Given the description of an element on the screen output the (x, y) to click on. 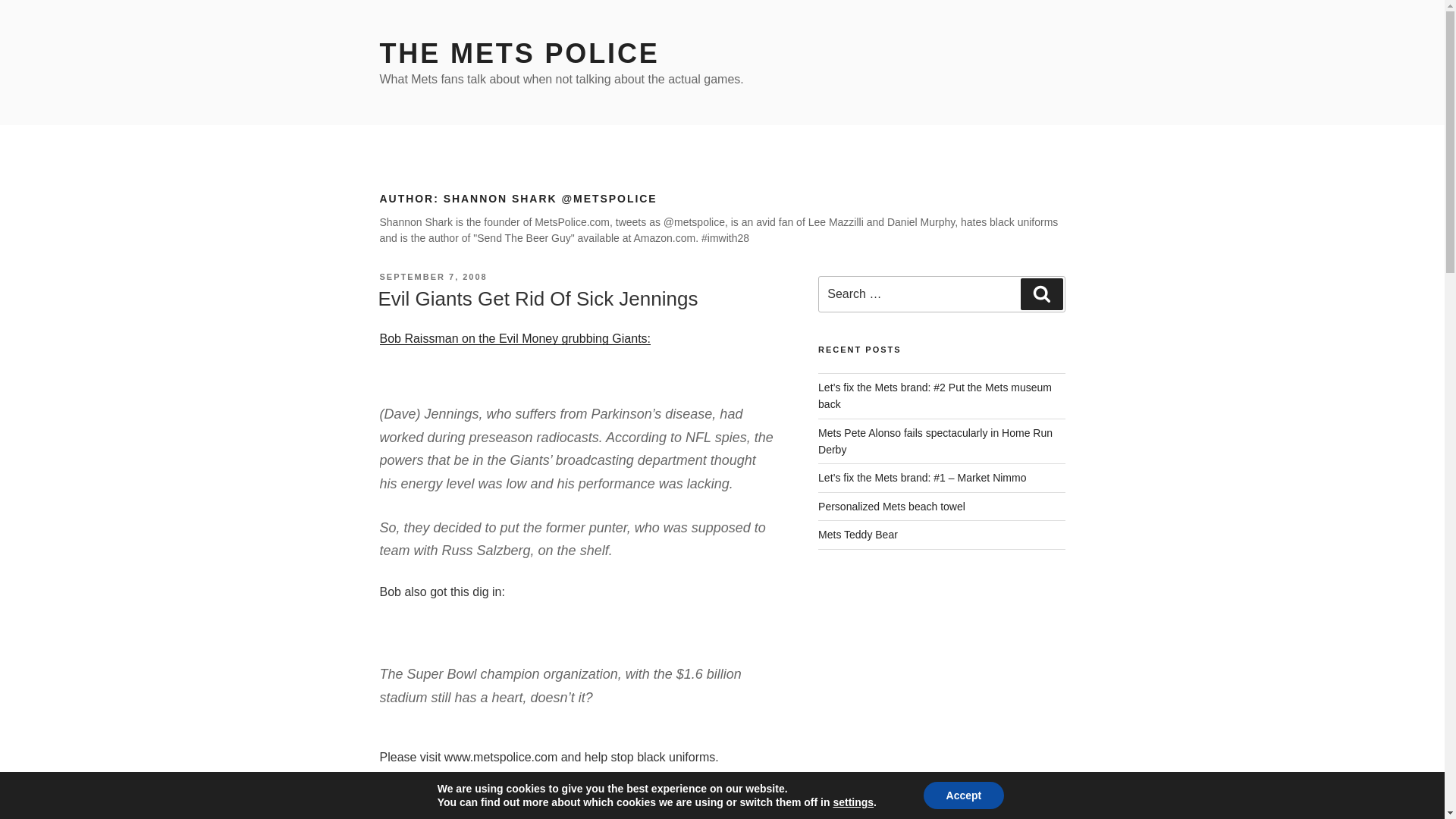
Mets Teddy Bear (858, 534)
Accept (963, 795)
THE METS POLICE (518, 52)
SEPTEMBER 7, 2008 (432, 276)
SEPTEMBER 6, 2008 (432, 817)
Personalized Mets beach towel (891, 506)
Evil Giants Get Rid Of Sick Jennings (537, 298)
Search (1041, 294)
Mets Pete Alonso fails spectacularly in Home Run Derby (935, 440)
Bob Raissman on the Evil Money grubbing Giants: (514, 338)
